Given the description of an element on the screen output the (x, y) to click on. 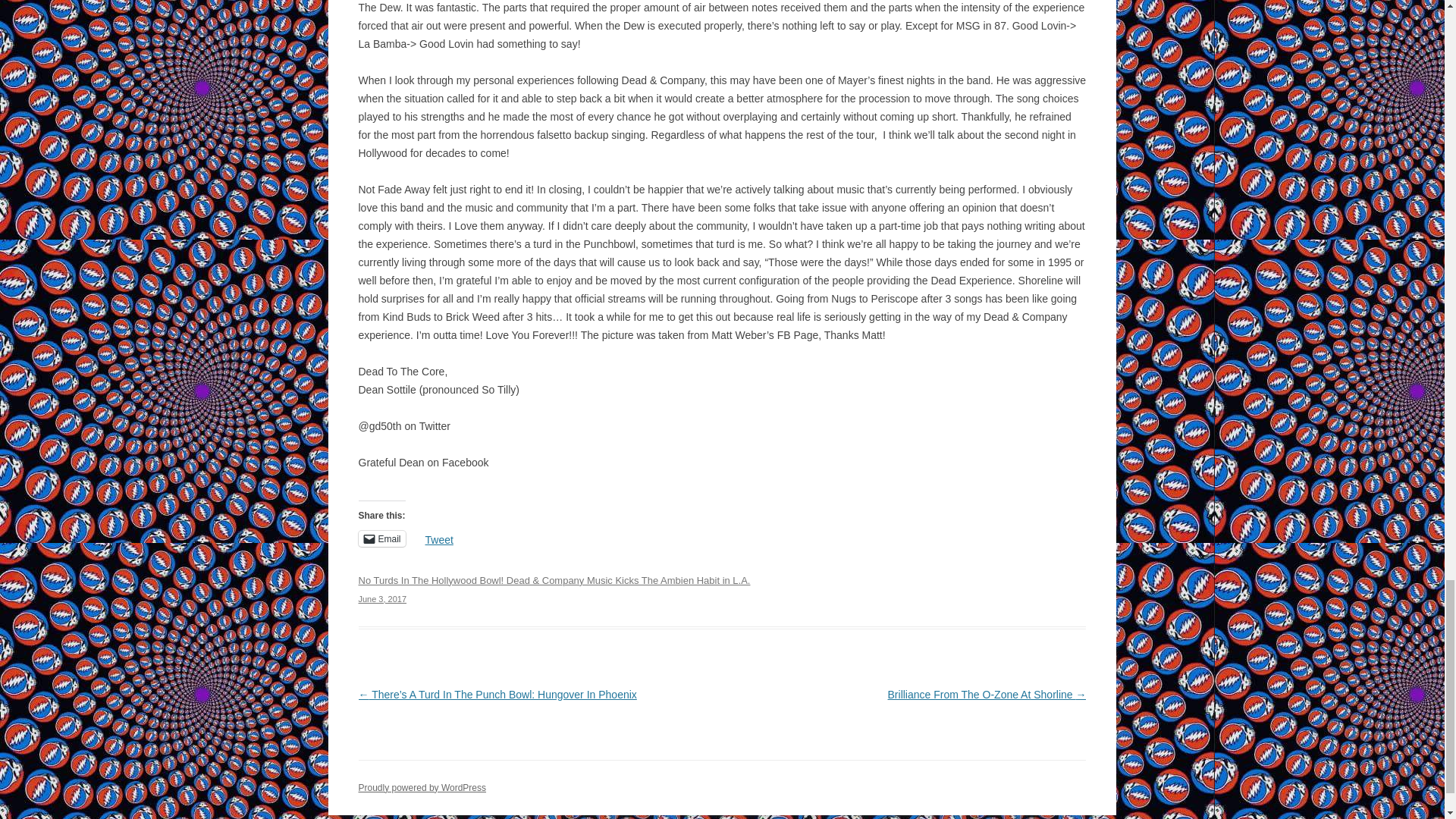
Email (381, 538)
Tweet (438, 537)
Proudly powered by WordPress (422, 787)
Click to email a link to a friend (381, 538)
Semantic Personal Publishing Platform (422, 787)
